Given the description of an element on the screen output the (x, y) to click on. 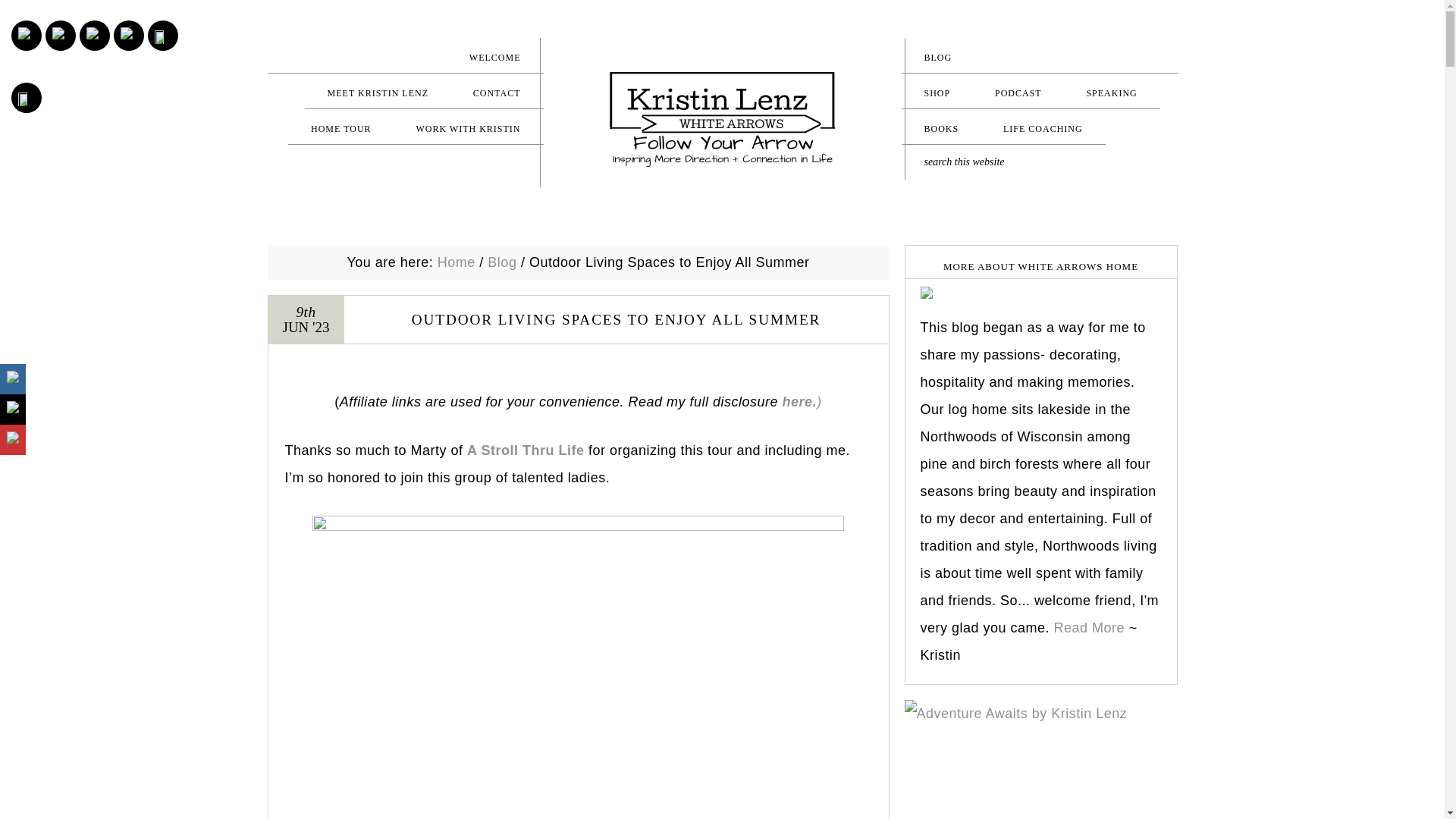
SPEAKING (1110, 93)
White Arrows Home (722, 119)
WELCOME (404, 56)
Instagram (25, 35)
Home (457, 262)
PODCAST (1018, 93)
Blog (501, 262)
